Given the description of an element on the screen output the (x, y) to click on. 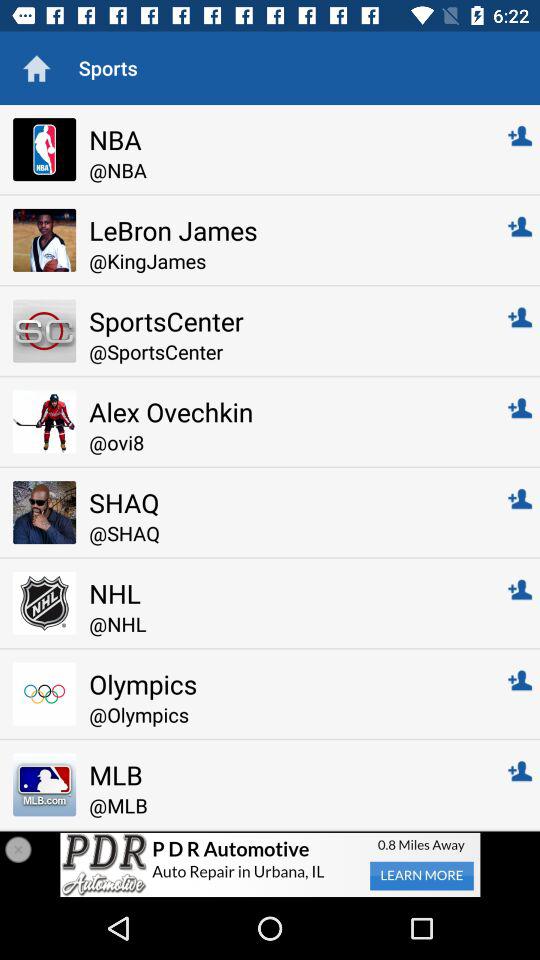
jump to the @kingjames item (284, 260)
